Given the description of an element on the screen output the (x, y) to click on. 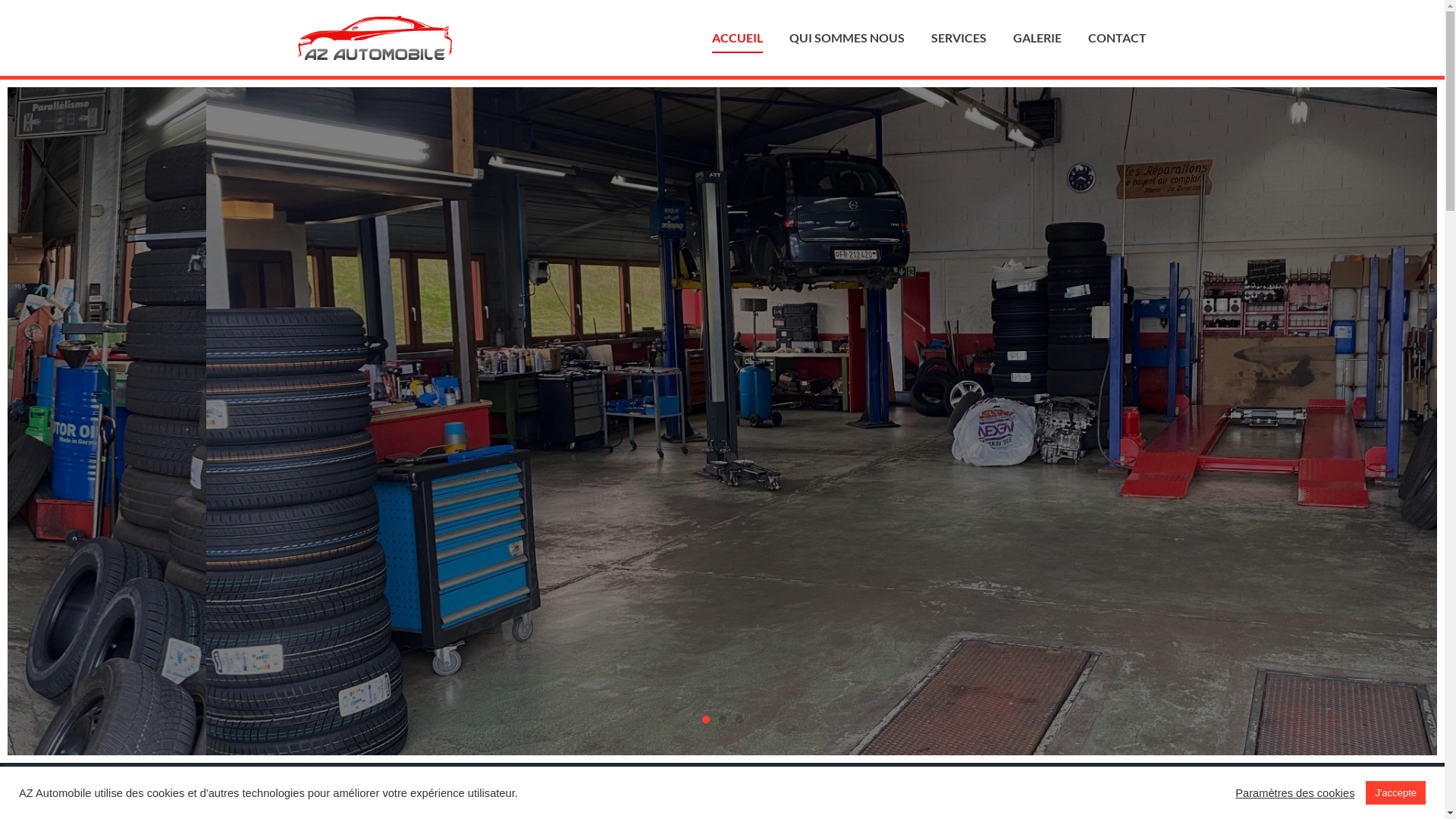
GALERIE Element type: text (1037, 37)
CONTACT Element type: text (1117, 37)
J'accepte Element type: text (1395, 792)
QUI SOMMES NOUS Element type: text (846, 37)
Voir les services Element type: text (721, 496)
ACCUEIL Element type: text (737, 37)
SERVICES Element type: text (958, 37)
